Given the description of an element on the screen output the (x, y) to click on. 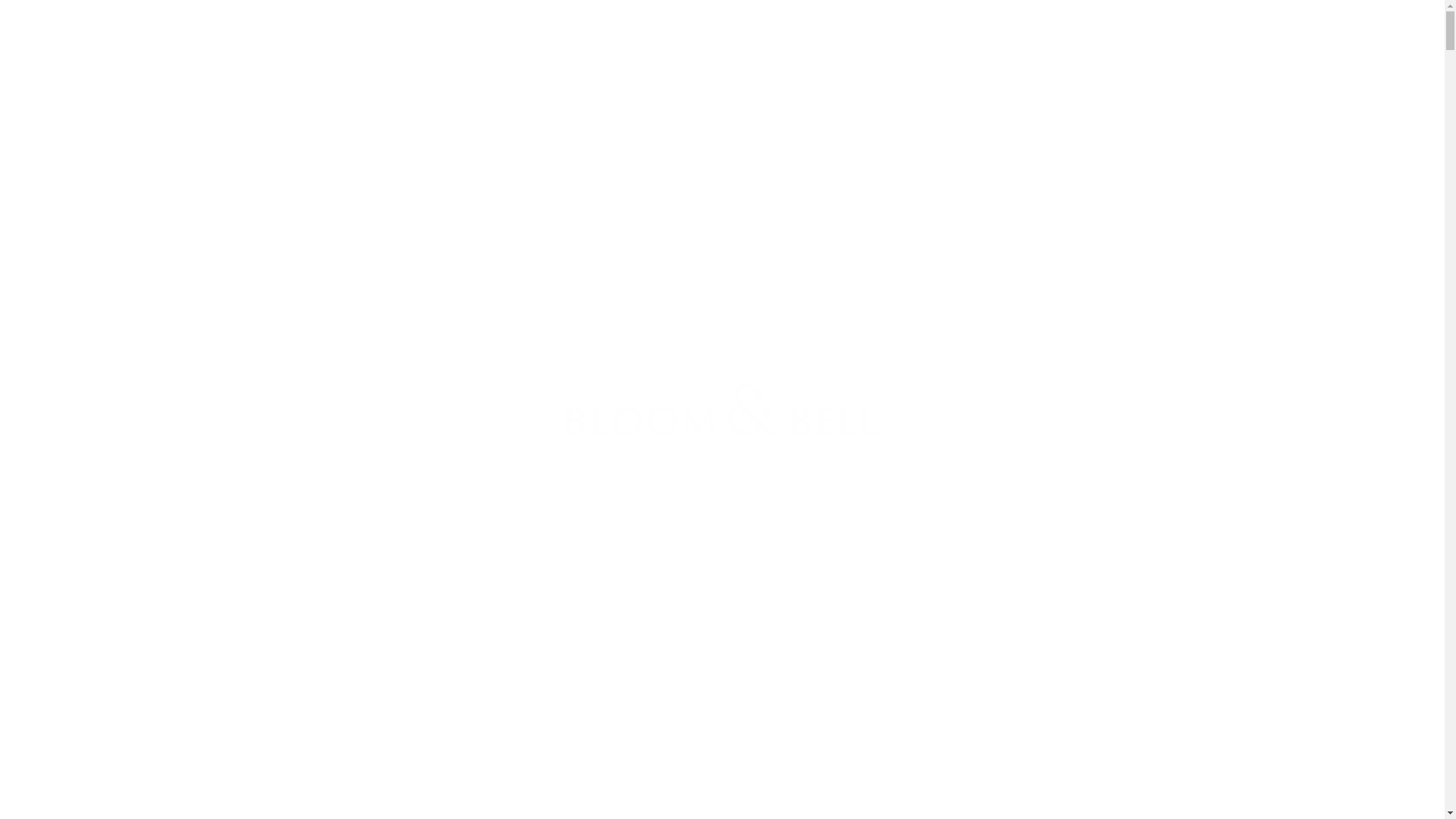
Services Element type: text (867, 37)
Know-How Element type: text (942, 37)
Contact Element type: text (1130, 37)
Blog Element type: text (1075, 37)
About Element type: text (806, 37)
Portfolio Element type: text (1018, 37)
